Given the description of an element on the screen output the (x, y) to click on. 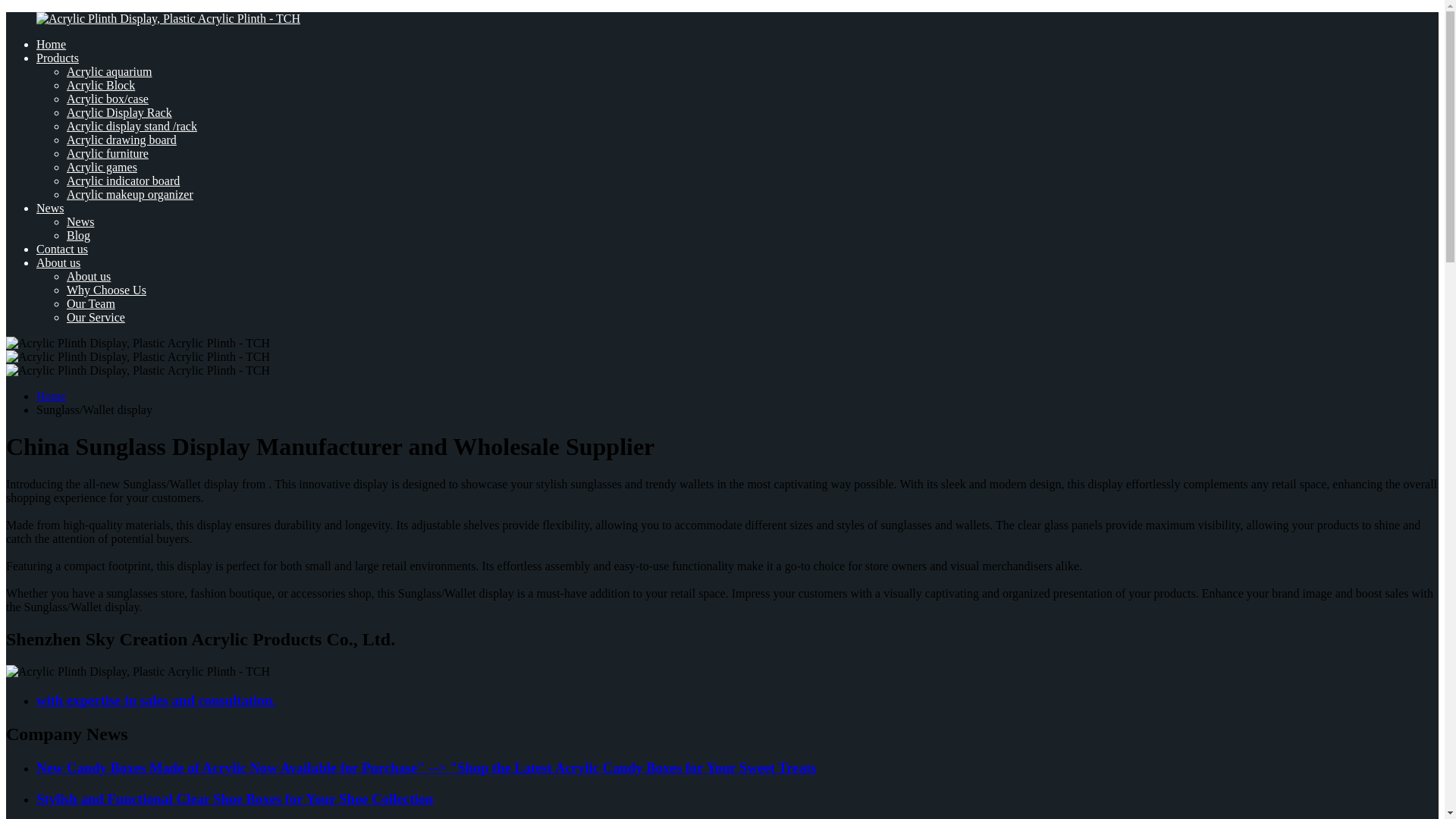
Blog (78, 235)
Acrylic games (101, 166)
Acrylic indicator board (122, 180)
Contact us (61, 248)
Our Team (90, 303)
About us (88, 276)
Home (50, 395)
News (80, 221)
Acrylic makeup organizer (129, 194)
Why Choose Us (106, 289)
